Given the description of an element on the screen output the (x, y) to click on. 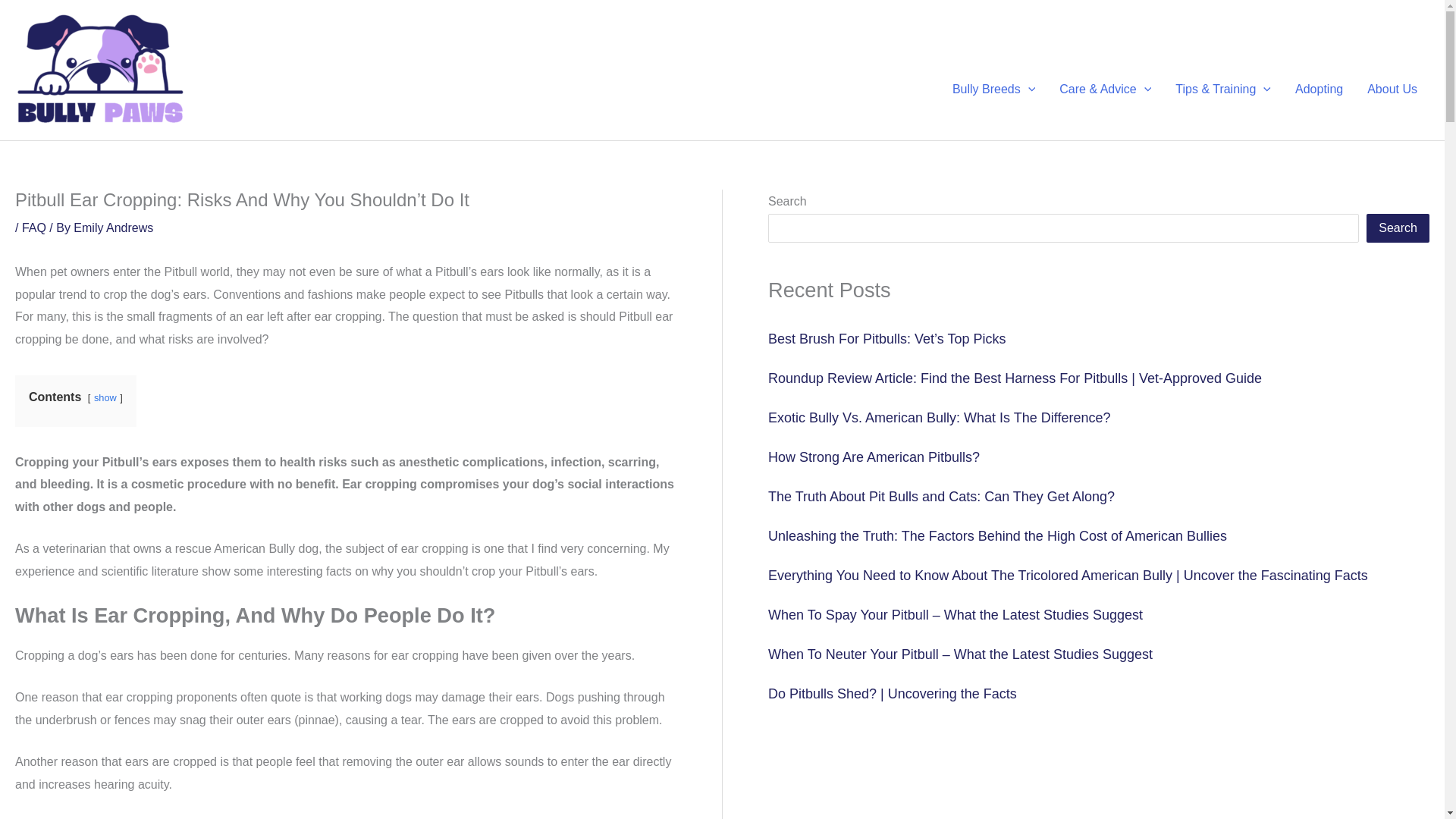
About Us (1392, 88)
FAQ (33, 227)
show (105, 397)
Bully Breeds (993, 88)
Emily Andrews (113, 227)
View all posts by Emily Andrews (113, 227)
Adopting (1318, 88)
